Given the description of an element on the screen output the (x, y) to click on. 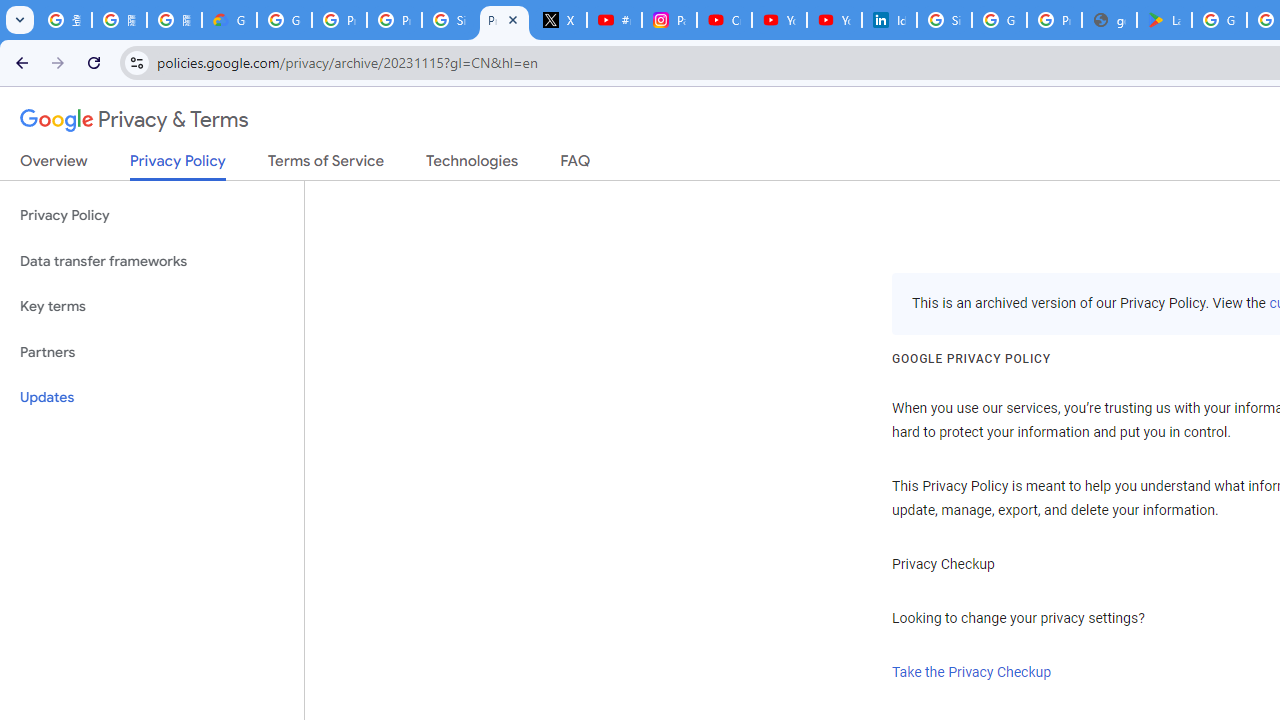
Key terms (152, 306)
X (559, 20)
Take the Privacy Checkup (972, 672)
google_privacy_policy_en.pdf (1108, 20)
Sign in - Google Accounts (943, 20)
